Given the description of an element on the screen output the (x, y) to click on. 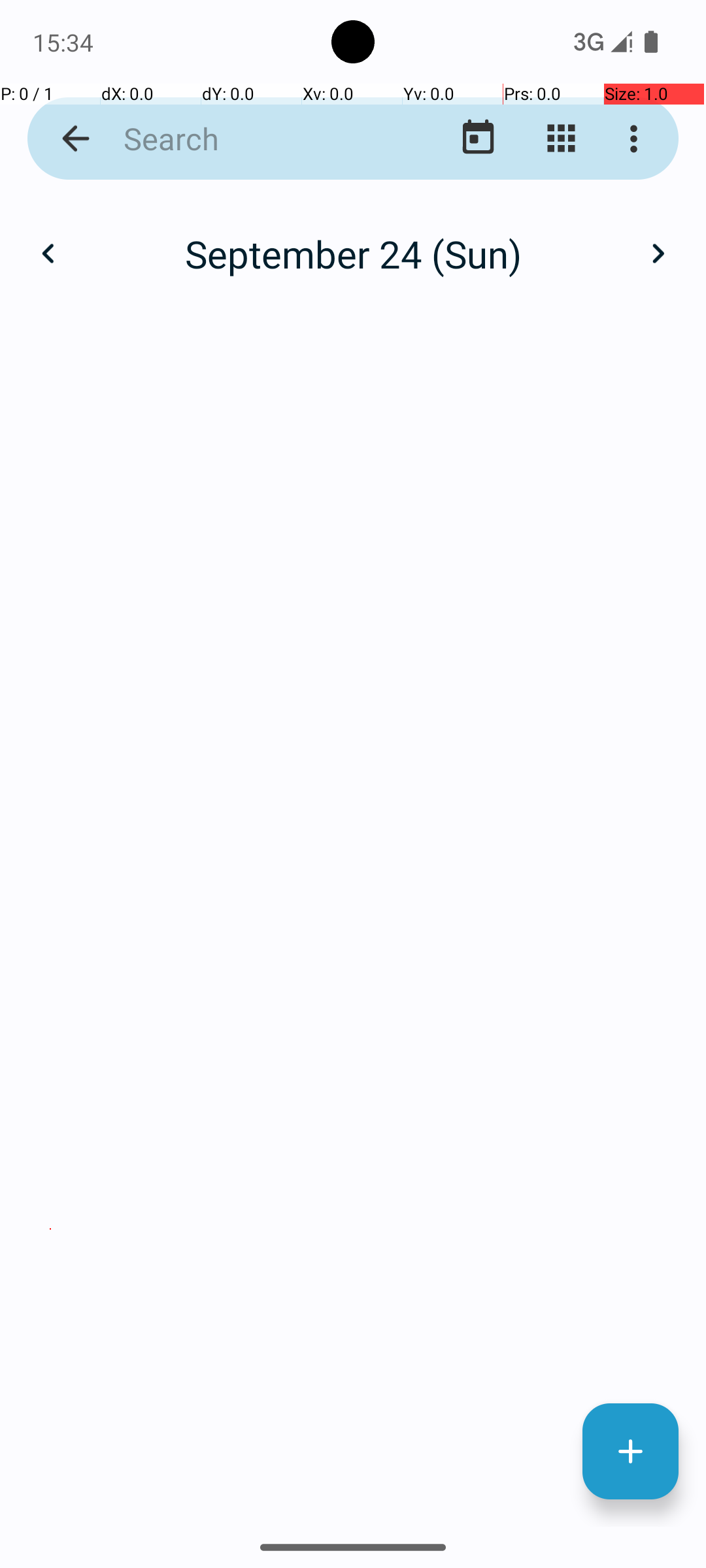
September 24 (Sun) Element type: android.widget.TextView (352, 253)
